Given the description of an element on the screen output the (x, y) to click on. 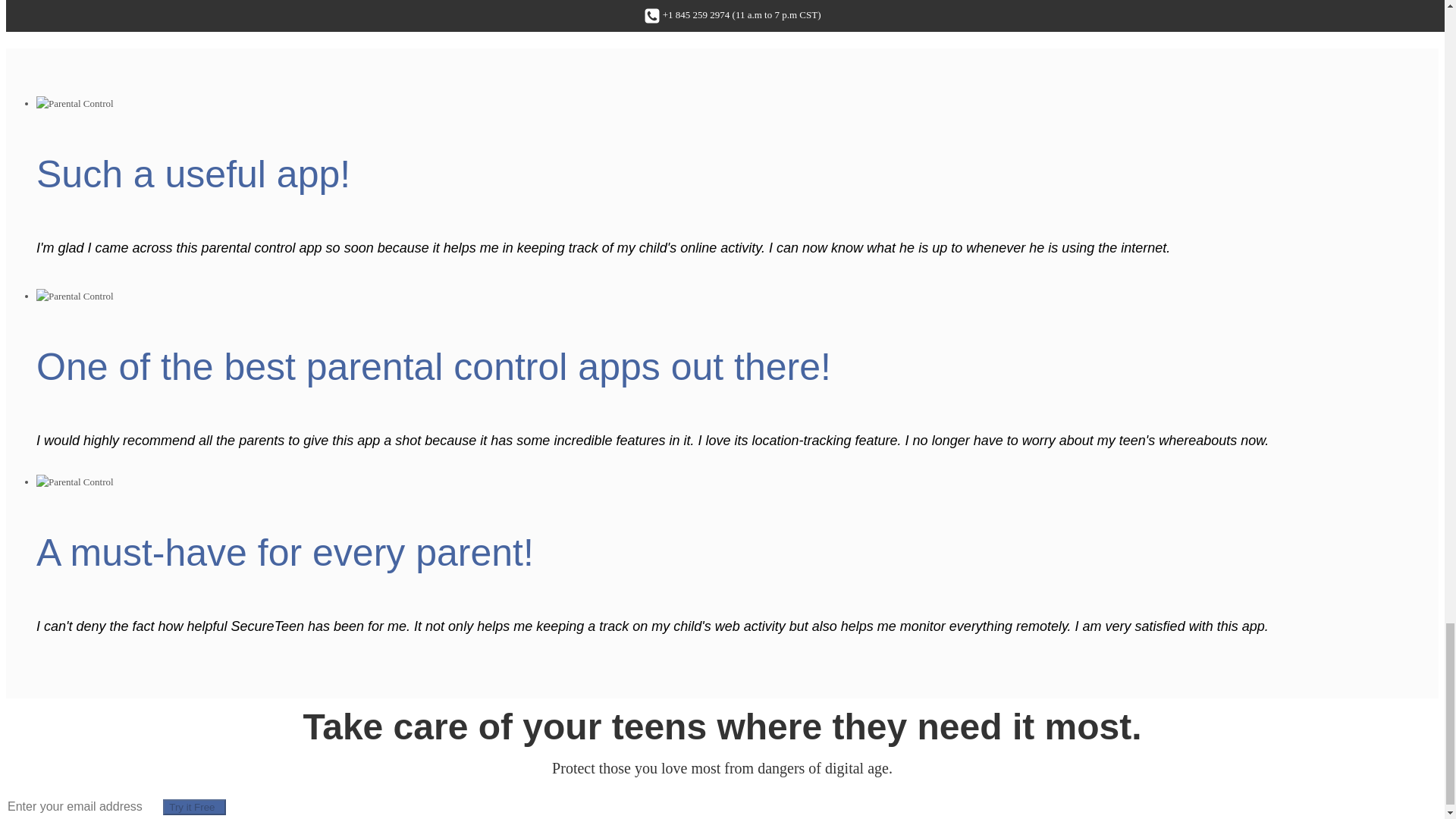
Try it Free (194, 806)
